Given the description of an element on the screen output the (x, y) to click on. 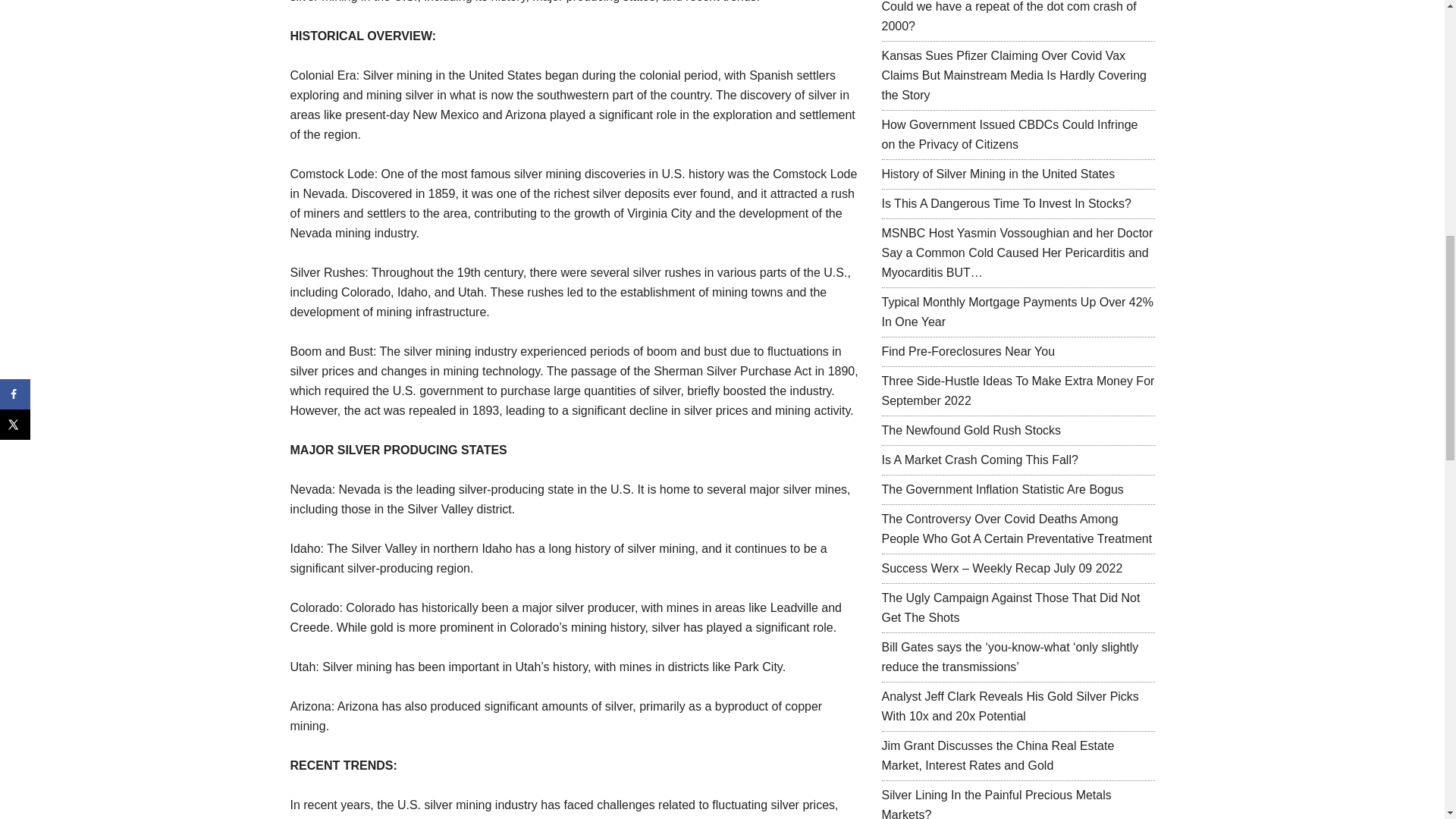
Could we have a repeat of the dot com crash of 2000? (1007, 16)
